Given the description of an element on the screen output the (x, y) to click on. 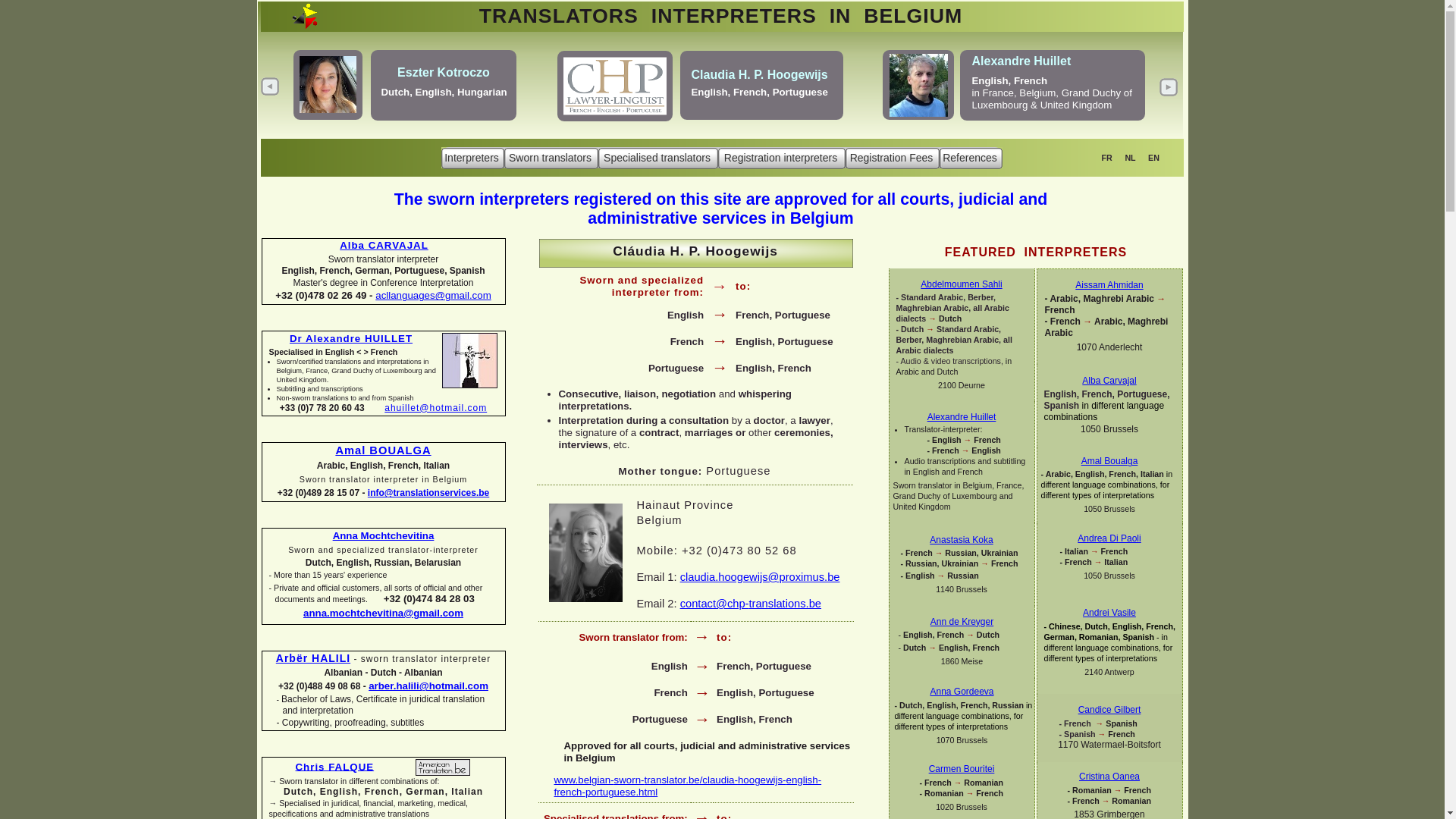
Translators interpreters in Belgium Element type: text (676, 151)
Registration interpreters Element type: text (780, 158)
Fatma Iferoudjene Element type: text (1027, 73)
arber.halili@hotmail.com Element type: text (428, 685)
Alba CARVAJAL Element type: text (383, 245)
Amal Boualga Element type: text (1109, 460)
TRANSLATORS  INTERPRETERS  IN  BELGIUM Element type: text (721, 15)
FR Element type: text (1106, 157)
Abdelmoumen Sahli Element type: text (960, 284)
claudia.hoogewijs@proximus.be Element type: text (760, 577)
NL Element type: text (1129, 157)
Andrei Vasile Element type: text (1108, 612)
anna.mochtchevitina@gmail.com Element type: text (383, 612)
Andrea Di Paoli Element type: text (1108, 538)
Specialised in English < > French Element type: text (332, 351)
acllanguages@gmail.com Element type: text (432, 295)
Carmen Bouritei Element type: text (961, 768)
Registration Fees Element type: text (891, 158)
Amal BOUALGA Element type: text (382, 450)
+33 (0)7 78 20 60 43         Element type: text (331, 407)
Cristina Oanea Element type: text (1109, 776)
Arabic, French, Berber (Amazigh) Element type: text (1053, 93)
Interpreters Element type: text (472, 158)
References Element type: text (969, 158)
Latifa Benhadji Element type: text (719, 68)
info@translationservices.be Element type: text (428, 492)
Anastasia Koka Element type: text (960, 539)
Arabic, English, French, Norwegian, Spanish, Swedish Element type: text (739, 91)
Anna Gordeeva Element type: text (961, 691)
Sworn translators Element type: text (550, 158)
Alba Carvajal Element type: text (1108, 380)
ahuillet@hotmail.com Element type: text (435, 407)
Alexandre Huillet Element type: text (961, 416)
contact@chp-translations.be Element type: text (750, 603)
Translators interpreters in Belgium Element type: hover (721, 157)
Claudia Hoogewijs - English, French, Portuguese Element type: text (716, 156)
Chris Falque - American Translation Element type: hover (442, 767)
English, French, Rusian Element type: text (445, 91)
Chris FALQUE Element type: text (334, 765)
Anna Mochtchevitina Element type: text (383, 535)
Candice Gilbert Element type: text (1109, 709)
Specialised translators Element type: text (657, 158)
Yulia Koreneva Element type: text (439, 71)
Ann de Kreyger Element type: text (961, 621)
The interpreters' directory in Belgium Element type: hover (721, 16)
Dr Alexandre HUILLET Element type: text (350, 338)
EN Element type: text (1153, 157)
Aissam Ahmidan Element type: text (1108, 284)
